Given the description of an element on the screen output the (x, y) to click on. 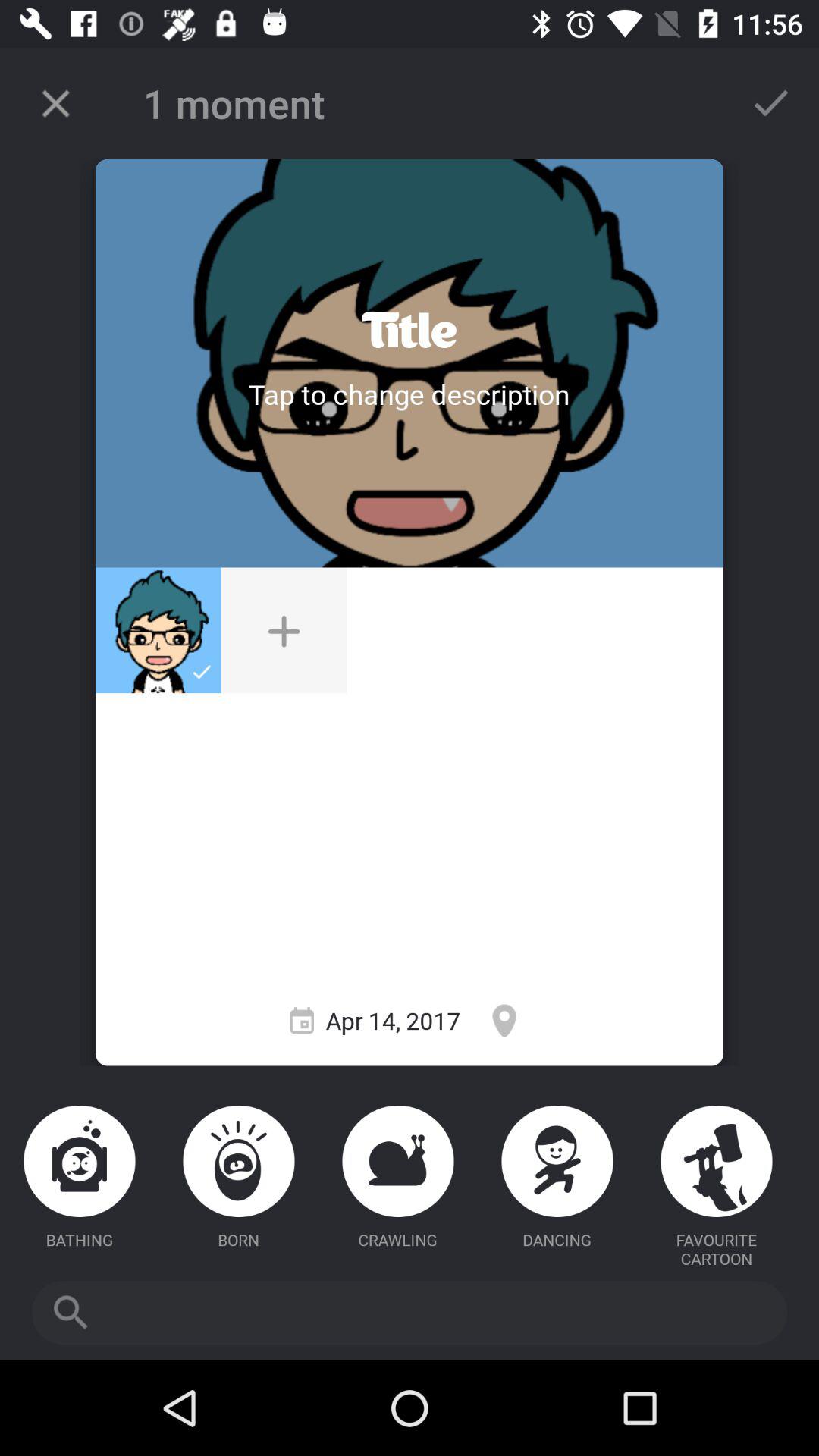
go back cross button (55, 103)
